Given the description of an element on the screen output the (x, y) to click on. 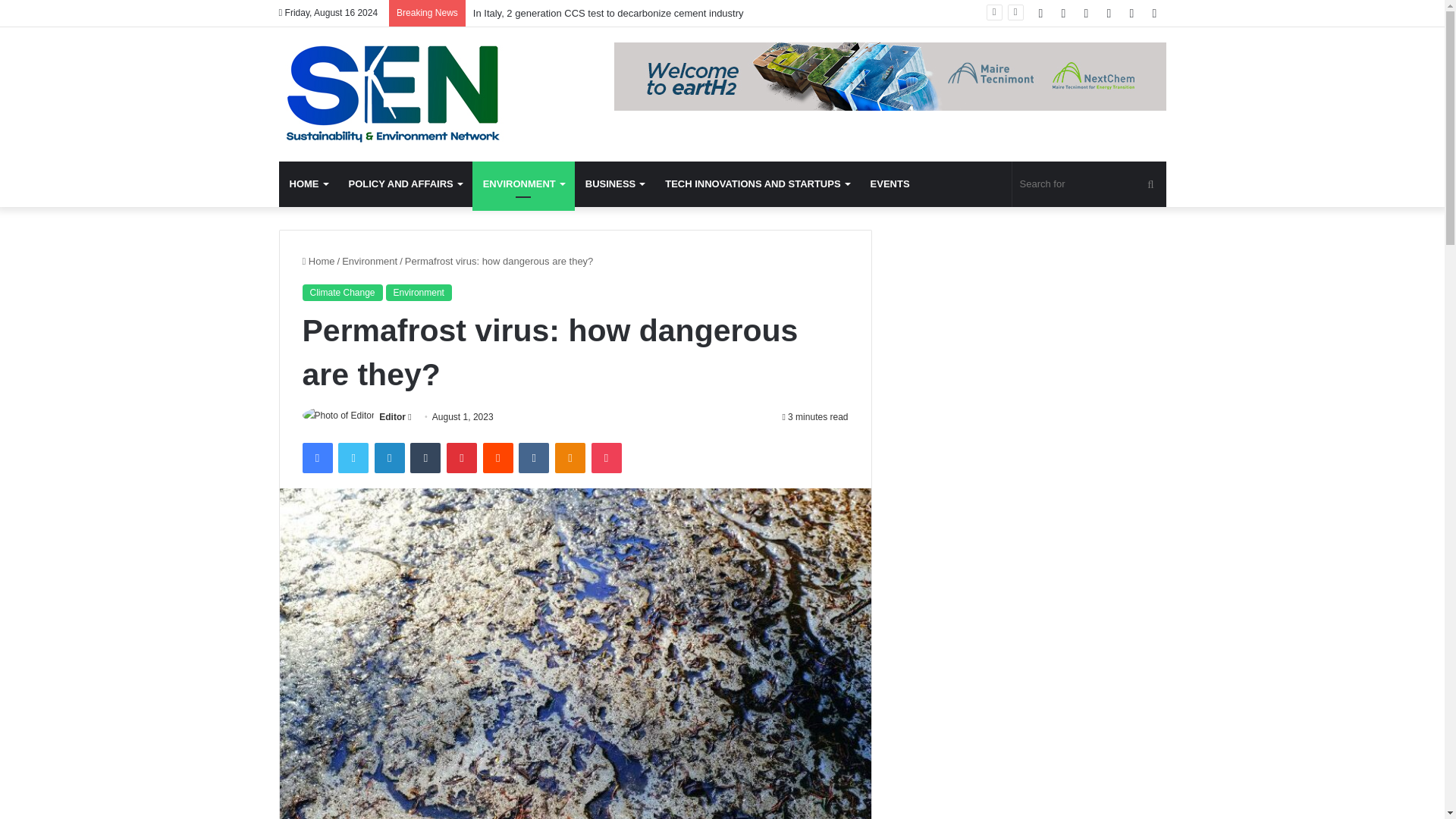
VKontakte (533, 458)
Pinterest (461, 458)
Editor (392, 416)
Twitter (352, 458)
Search for (1088, 184)
Tumblr (425, 458)
HOME (308, 184)
Facebook (316, 458)
BUSINESS (614, 184)
ENVIRONMENT (523, 184)
